Given the description of an element on the screen output the (x, y) to click on. 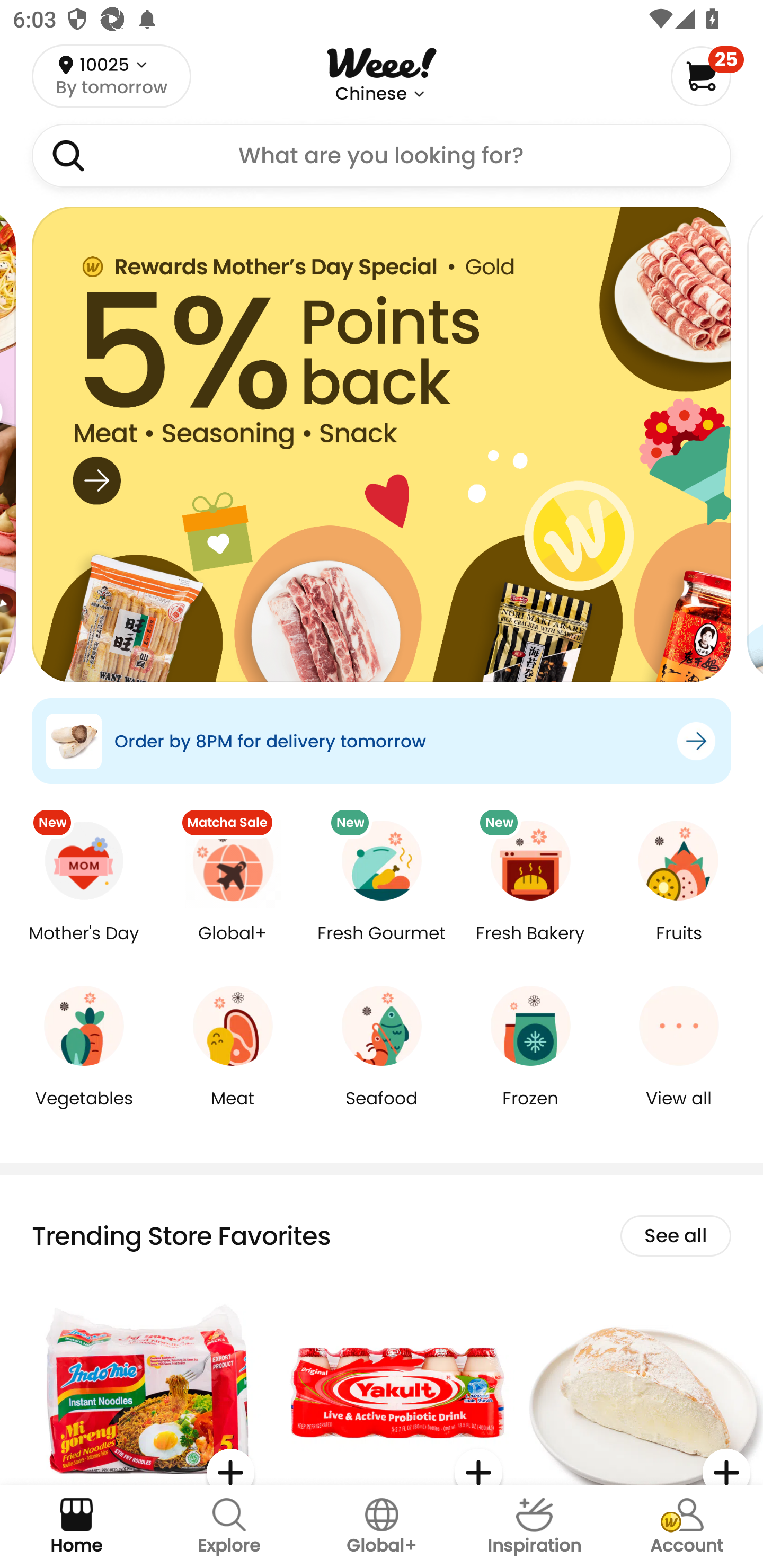
10025 By tomorrow (111, 75)
25 (706, 75)
Chinese (370, 93)
What are you looking for? (381, 155)
Order by 8PM for delivery tomorrow (381, 740)
Mother's Day (83, 946)
Global+ (232, 946)
Fresh Gourmet (381, 946)
Fresh Bakery (530, 946)
Fruits (678, 946)
Vegetables (83, 1111)
Meat (232, 1111)
Seafood (381, 1111)
Frozen (530, 1111)
View all (678, 1111)
Home (76, 1526)
Explore (228, 1526)
Global+ (381, 1526)
Inspiration (533, 1526)
Account (686, 1526)
